Given the description of an element on the screen output the (x, y) to click on. 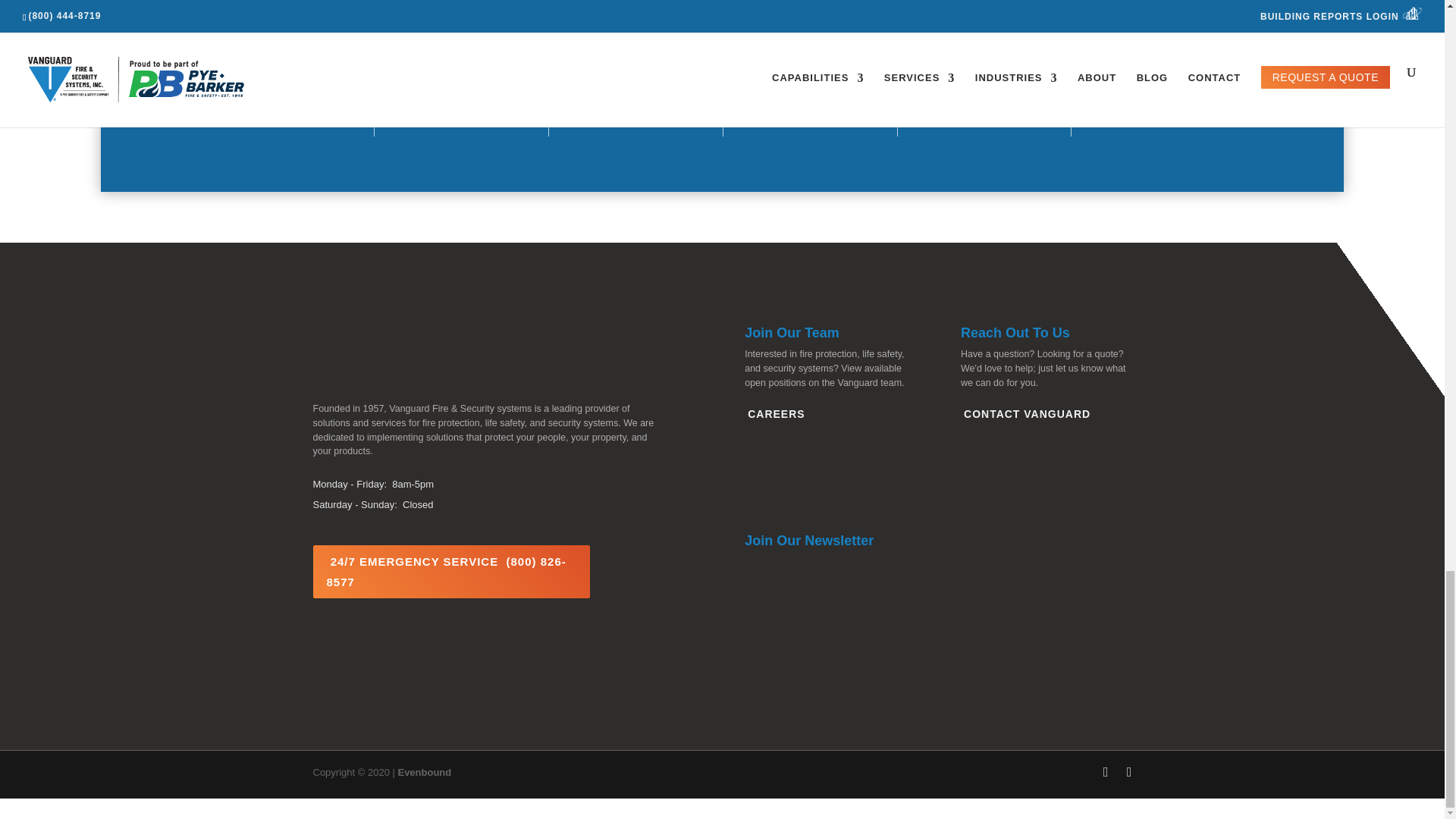
Proud-PBFS-dark-bg-1.0 (403, 680)
Form 1 (937, 632)
